Given the description of an element on the screen output the (x, y) to click on. 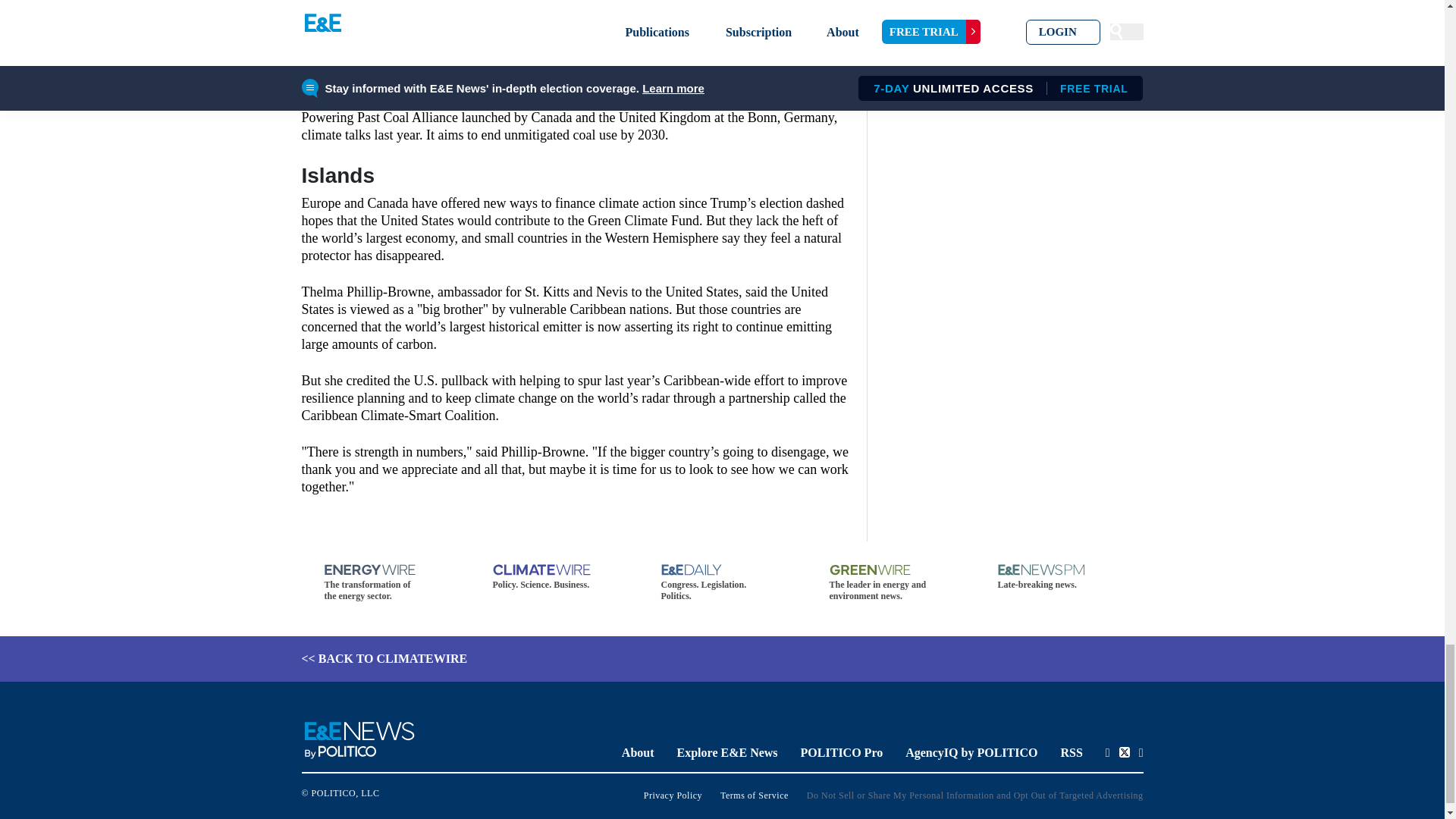
The transformation of the energy sector. (385, 582)
About (637, 752)
Congress. Legislation. Politics. (722, 582)
RSS (1070, 752)
Late-breaking news. (1058, 577)
POLITICO Pro (841, 752)
AgencyIQ by POLITICO (970, 752)
Policy. Science. Business. (554, 577)
The leader in energy and environment news. (890, 582)
